Given the description of an element on the screen output the (x, y) to click on. 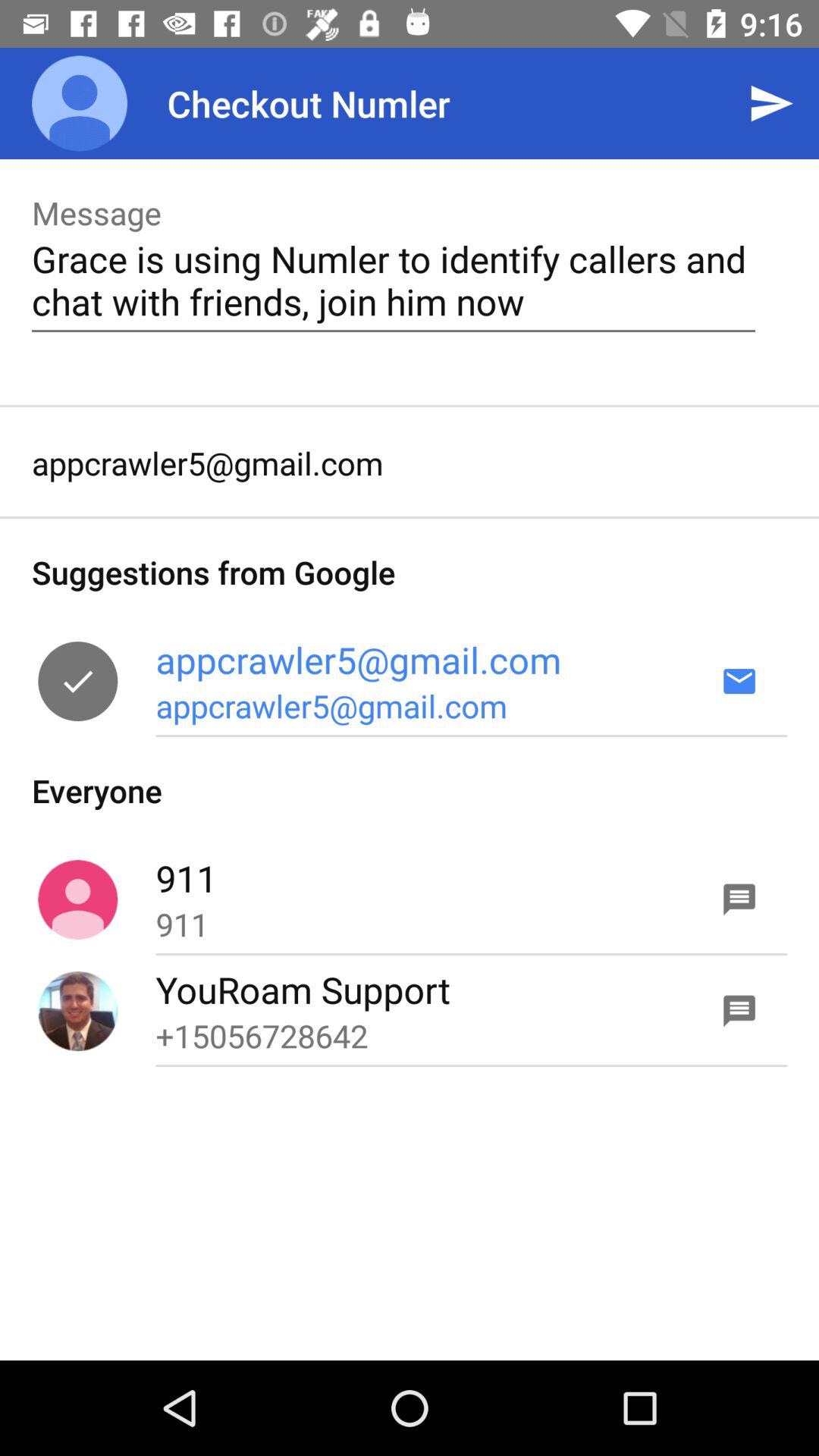
turn on the item next to the checkout numler item (771, 103)
